Given the description of an element on the screen output the (x, y) to click on. 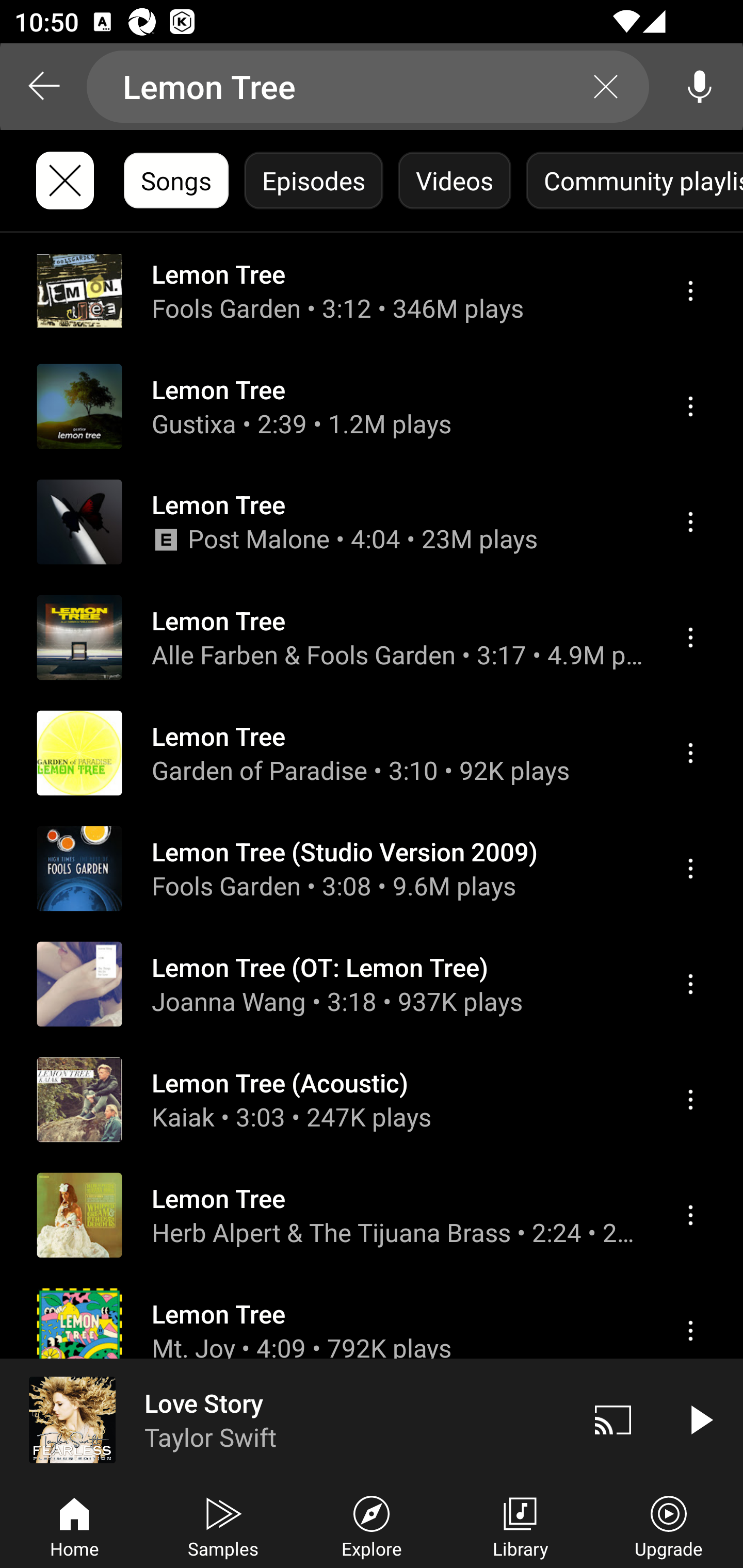
Search back (43, 86)
Lemon Tree (367, 86)
Clear search (605, 86)
Voice search (699, 86)
Clear filters (64, 181)
Menu (690, 290)
Menu (690, 406)
Menu (690, 522)
Menu (690, 638)
Menu (690, 752)
Menu (690, 868)
Menu (690, 984)
Menu (690, 1099)
Menu (690, 1215)
Menu (690, 1331)
Love Story Taylor Swift (284, 1419)
Cast. Disconnected (612, 1419)
Play video (699, 1419)
Home (74, 1524)
Samples (222, 1524)
Explore (371, 1524)
Library (519, 1524)
Upgrade (668, 1524)
